Given the description of an element on the screen output the (x, y) to click on. 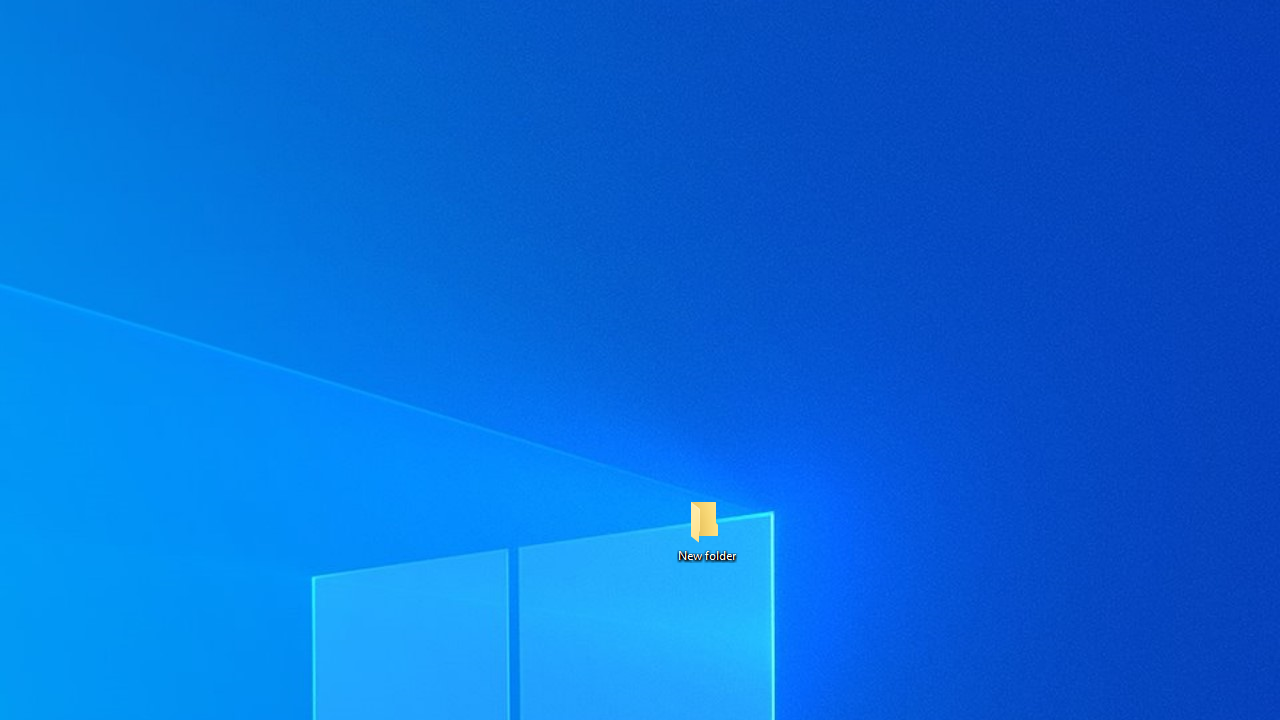
New folder (706, 530)
